Given the description of an element on the screen output the (x, y) to click on. 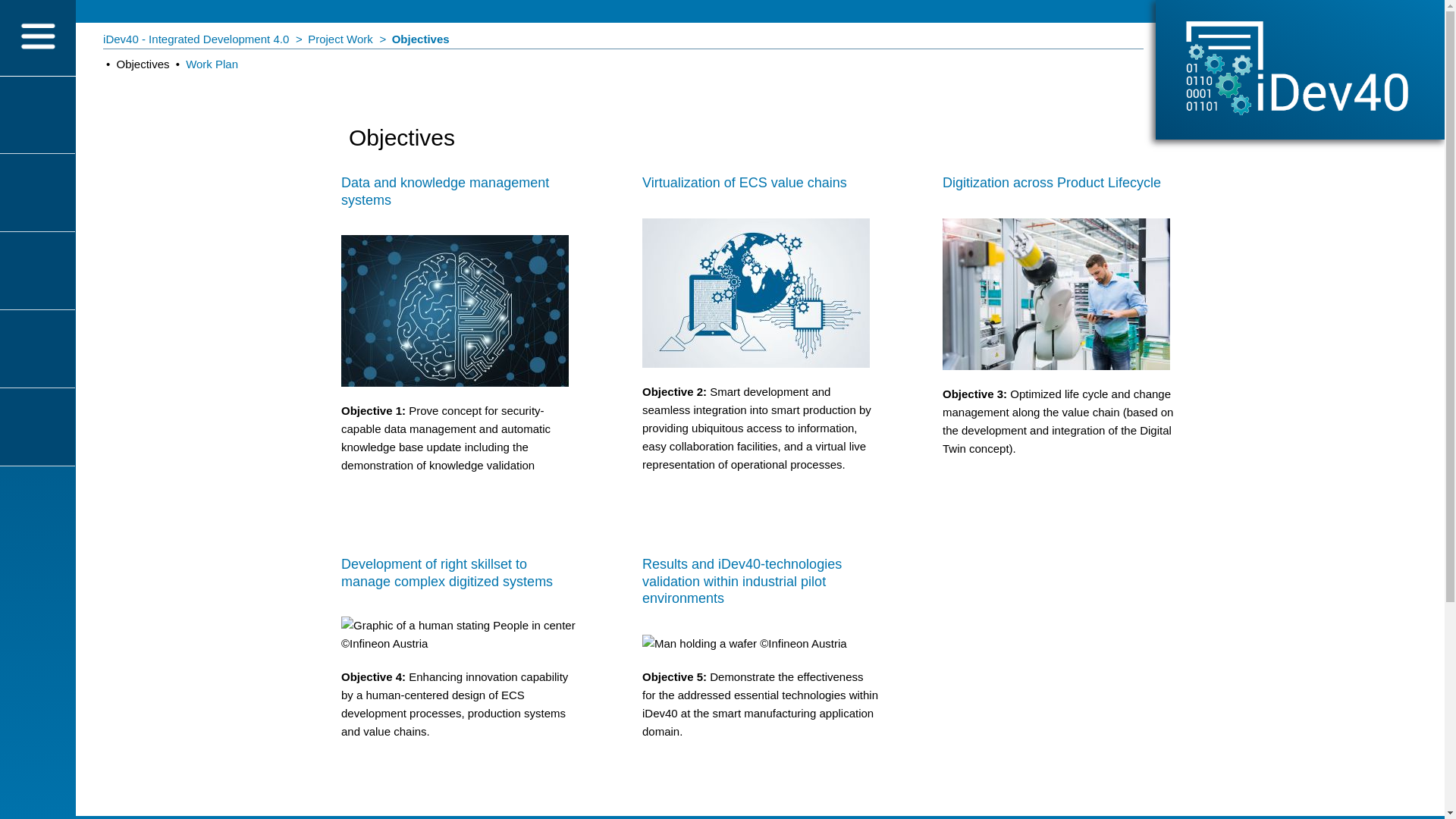
Work Plan (212, 63)
Project Work (339, 38)
Work Plan (212, 63)
iDev40 - Integrated Development 4.0 (195, 38)
Project Work (339, 38)
iDev40 - Integrated Development 4.0 (195, 38)
